Given the description of an element on the screen output the (x, y) to click on. 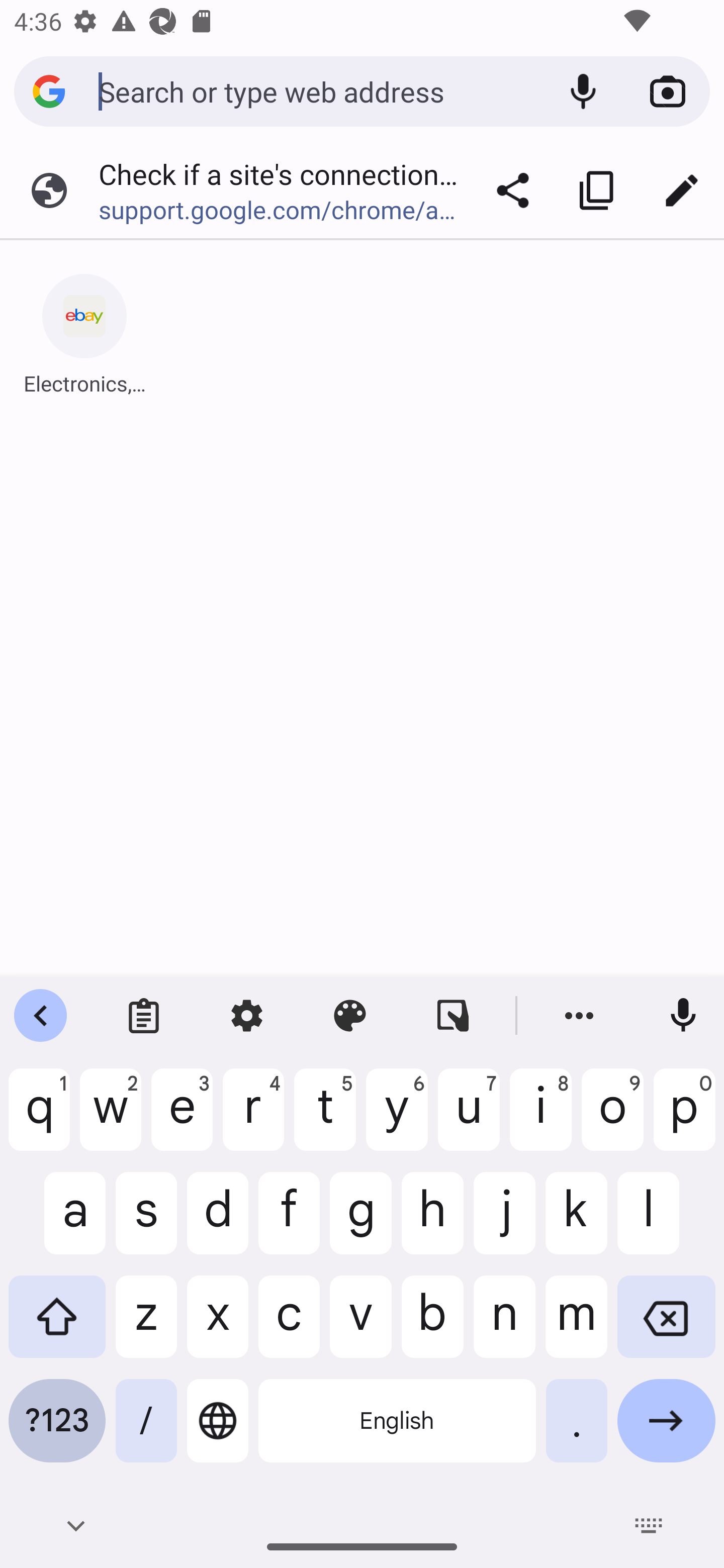
Start voice search (582, 91)
Search with your camera using Google Lens (667, 91)
Search or type web address (319, 90)
Share… (512, 190)
Copy link (597, 190)
Edit (681, 190)
